Given the description of an element on the screen output the (x, y) to click on. 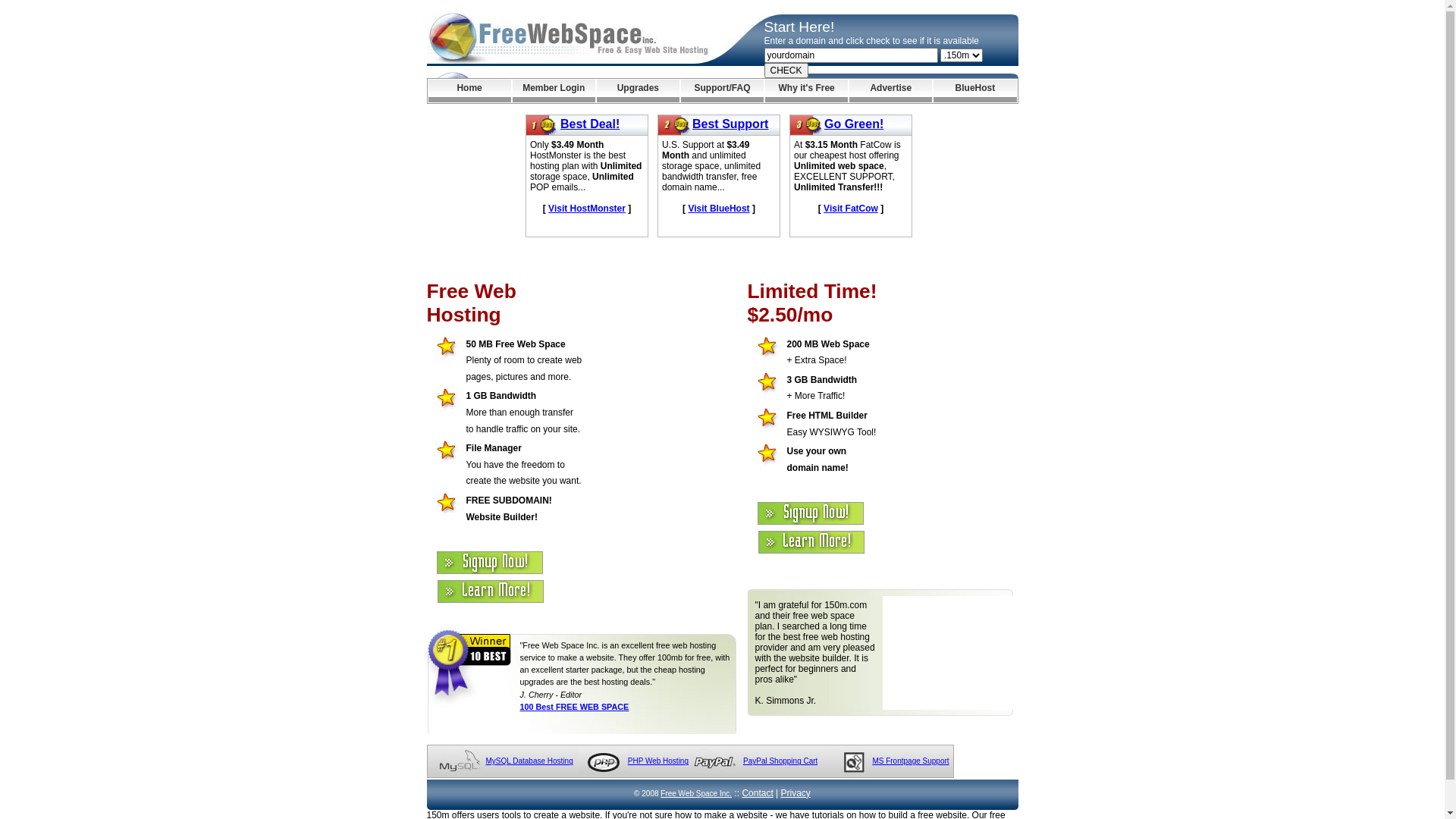
BlueHost Element type: text (974, 90)
MySQL Database Hosting Element type: text (528, 760)
Upgrades Element type: text (637, 90)
CHECK Element type: text (786, 70)
Advertise Element type: text (890, 90)
PayPal Shopping Cart Element type: text (780, 760)
Member Login Element type: text (553, 90)
MS Frontpage Support Element type: text (910, 760)
Contact Element type: text (756, 792)
Home Element type: text (468, 90)
Support/FAQ Element type: text (721, 90)
Why it's Free Element type: text (806, 90)
PHP Web Hosting Element type: text (657, 760)
Privacy Element type: text (795, 792)
Free Web Space Inc. Element type: text (695, 793)
100 Best FREE WEB SPACE Element type: text (574, 706)
